Given the description of an element on the screen output the (x, y) to click on. 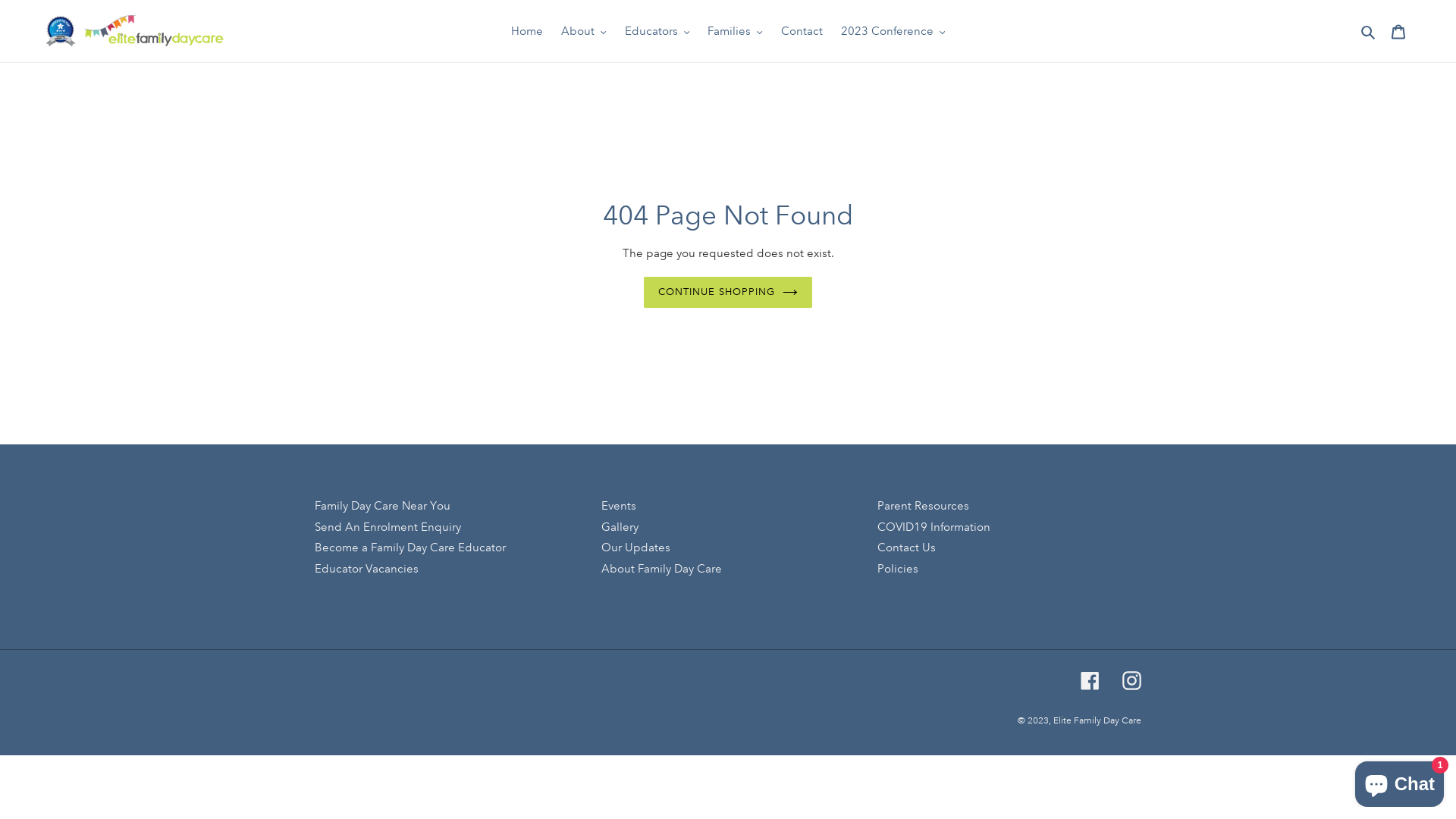
Cart Element type: text (1398, 31)
Shopify online store chat Element type: hover (1399, 780)
Contact Element type: text (801, 31)
2023 Conference Element type: text (892, 31)
Send An Enrolment Enquiry Element type: text (387, 526)
Family Day Care Near You Element type: text (382, 505)
Search Element type: text (1368, 30)
Become a Family Day Care Educator Element type: text (409, 547)
Facebook Element type: text (1089, 680)
Gallery Element type: text (619, 526)
CONTINUE SHOPPING Element type: text (727, 292)
Home Element type: text (526, 31)
Policies Element type: text (897, 568)
Educators Element type: text (657, 31)
Educator Vacancies Element type: text (366, 568)
COVID19 Information Element type: text (933, 526)
Families Element type: text (734, 31)
Elite Family Day Care Element type: text (1097, 720)
Instagram Element type: text (1131, 680)
Our Updates Element type: text (635, 547)
Parent Resources Element type: text (923, 505)
About Family Day Care Element type: text (661, 568)
Events Element type: text (618, 505)
Contact Us Element type: text (906, 547)
About Element type: text (583, 31)
